Given the description of an element on the screen output the (x, y) to click on. 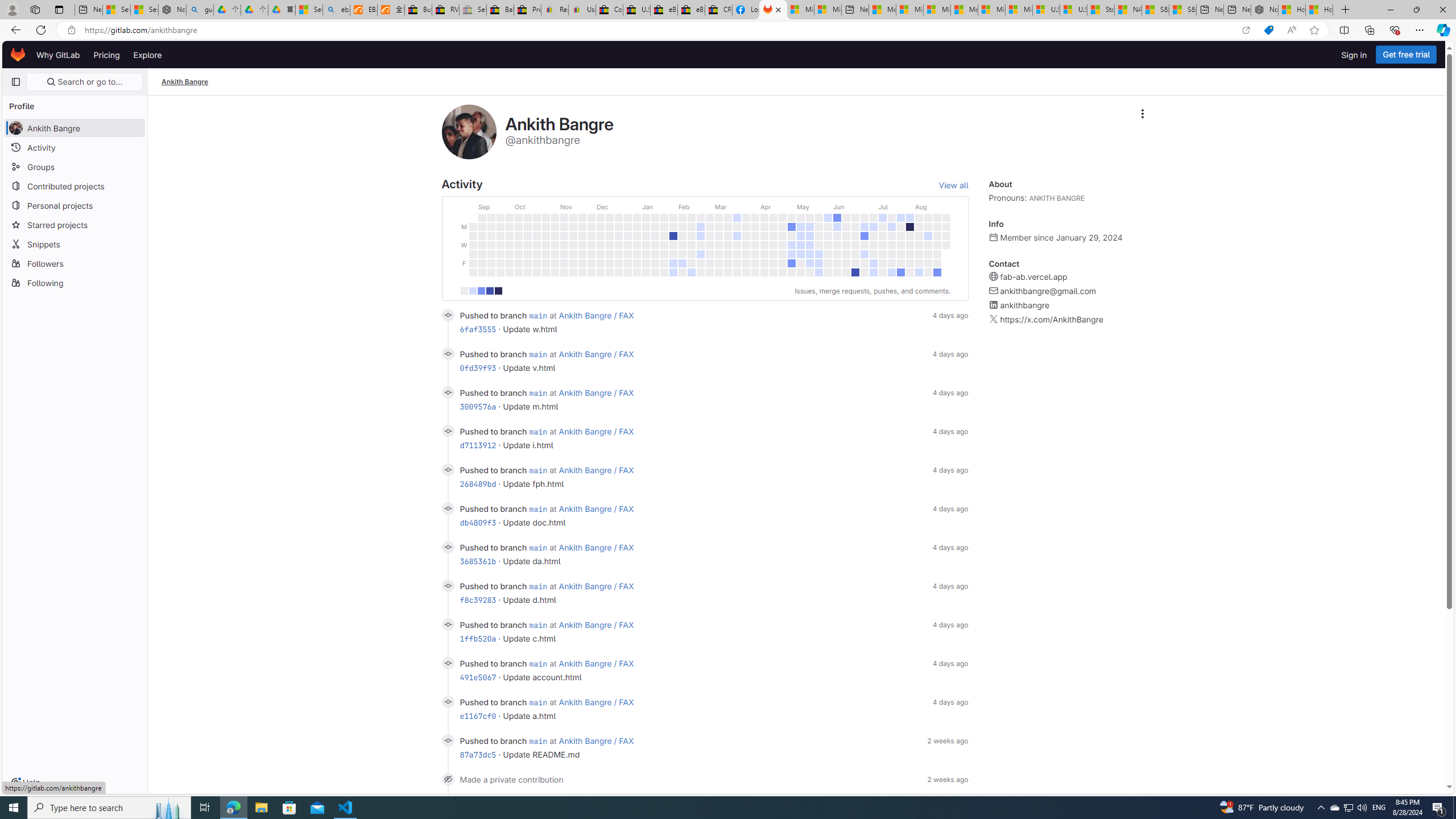
Homepage (17, 54)
Get free trial (1406, 54)
